Given the description of an element on the screen output the (x, y) to click on. 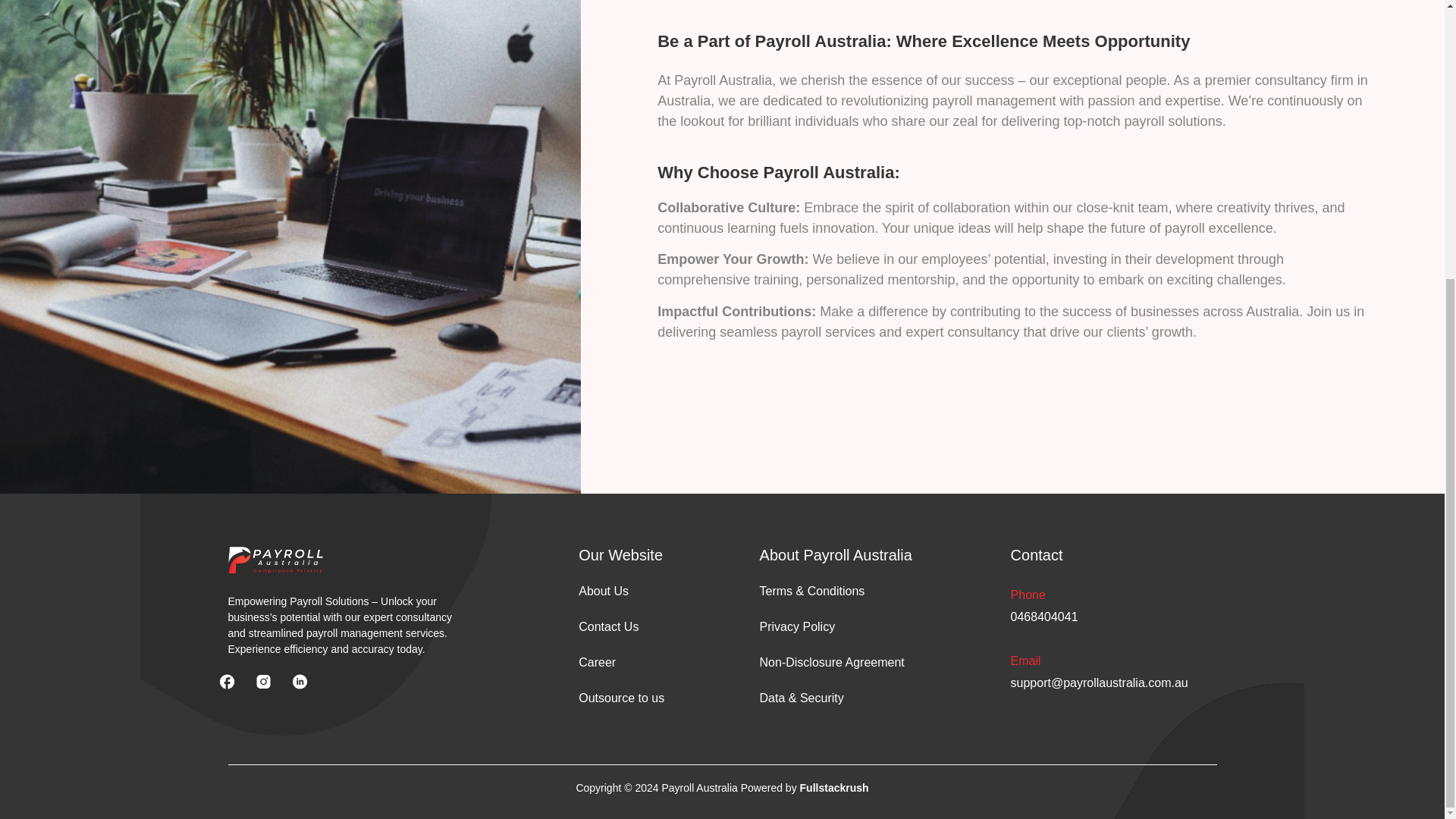
0468404041 (1044, 616)
Contact Us (661, 626)
Privacy Policy (877, 626)
Outsource to us (661, 698)
Career (661, 662)
Non-Disclosure Agreement (877, 662)
About Us (661, 591)
